Given the description of an element on the screen output the (x, y) to click on. 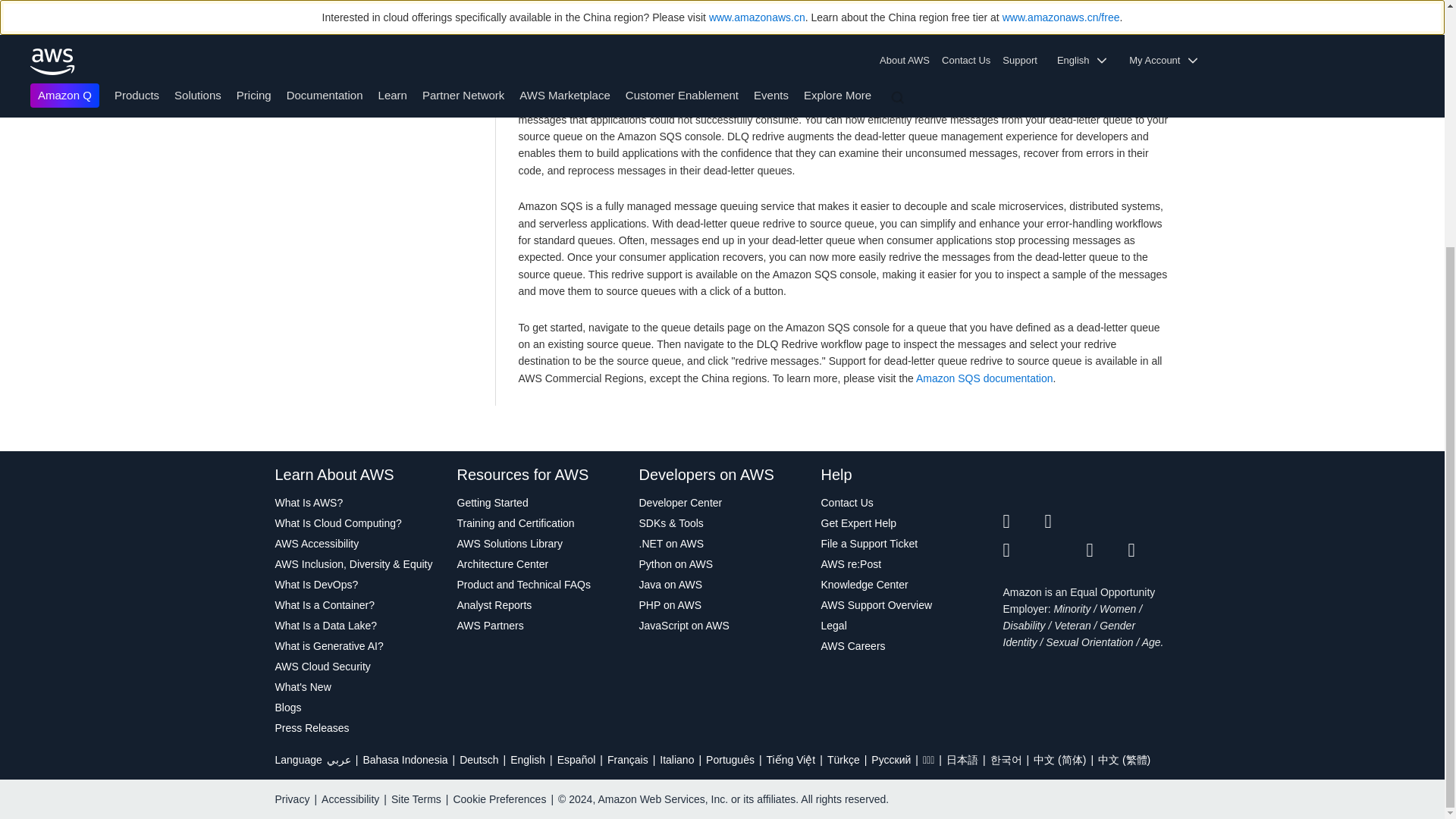
Press Releases (358, 727)
Twitter (1023, 521)
Linkedin (1106, 521)
Instagram (1149, 521)
Facebook (1065, 521)
YouTube (1065, 550)
Podcast (1106, 550)
Twitch (1023, 550)
Email (1149, 550)
